Given the description of an element on the screen output the (x, y) to click on. 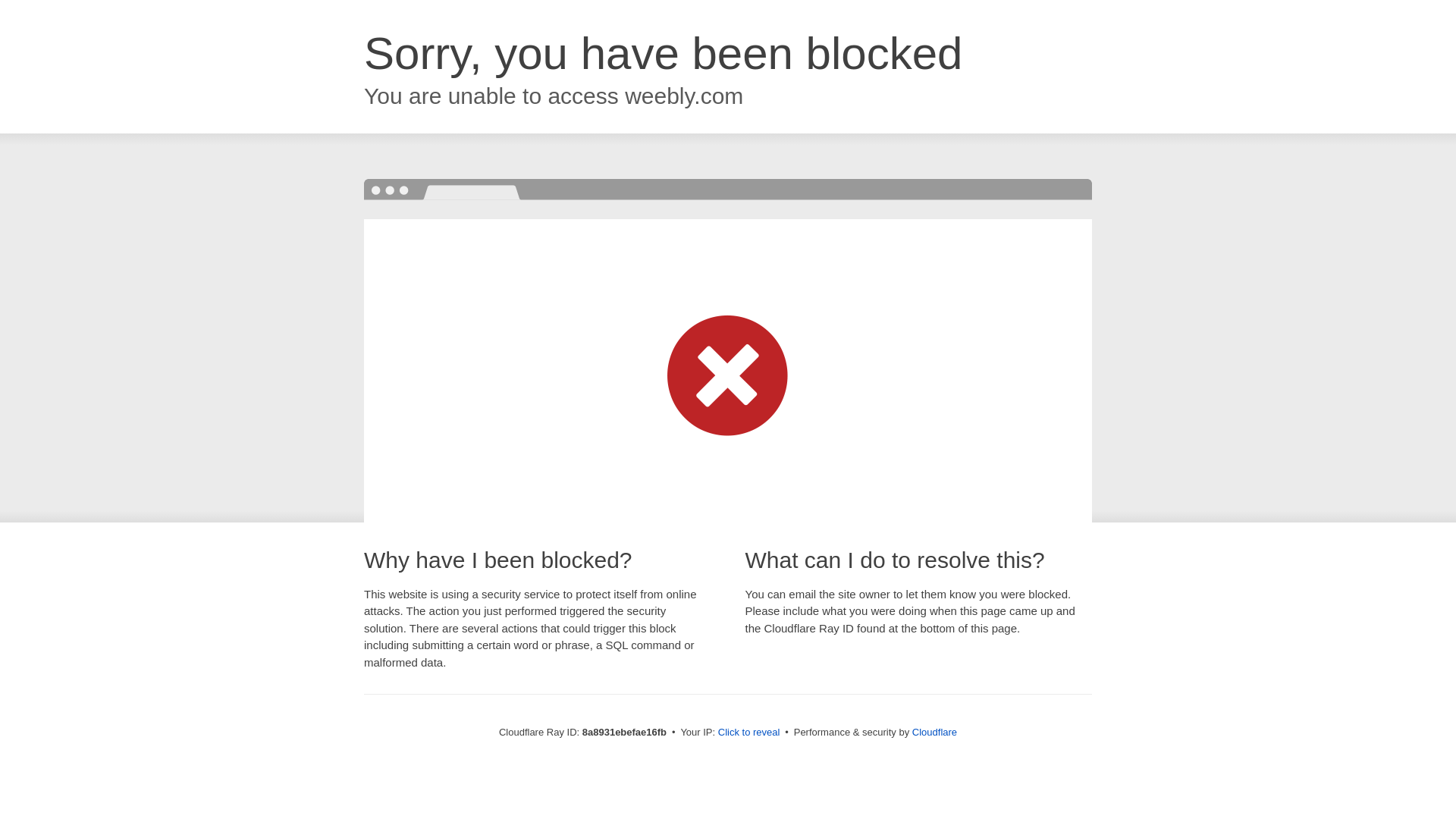
Click to reveal (748, 732)
Cloudflare (934, 731)
